Given the description of an element on the screen output the (x, y) to click on. 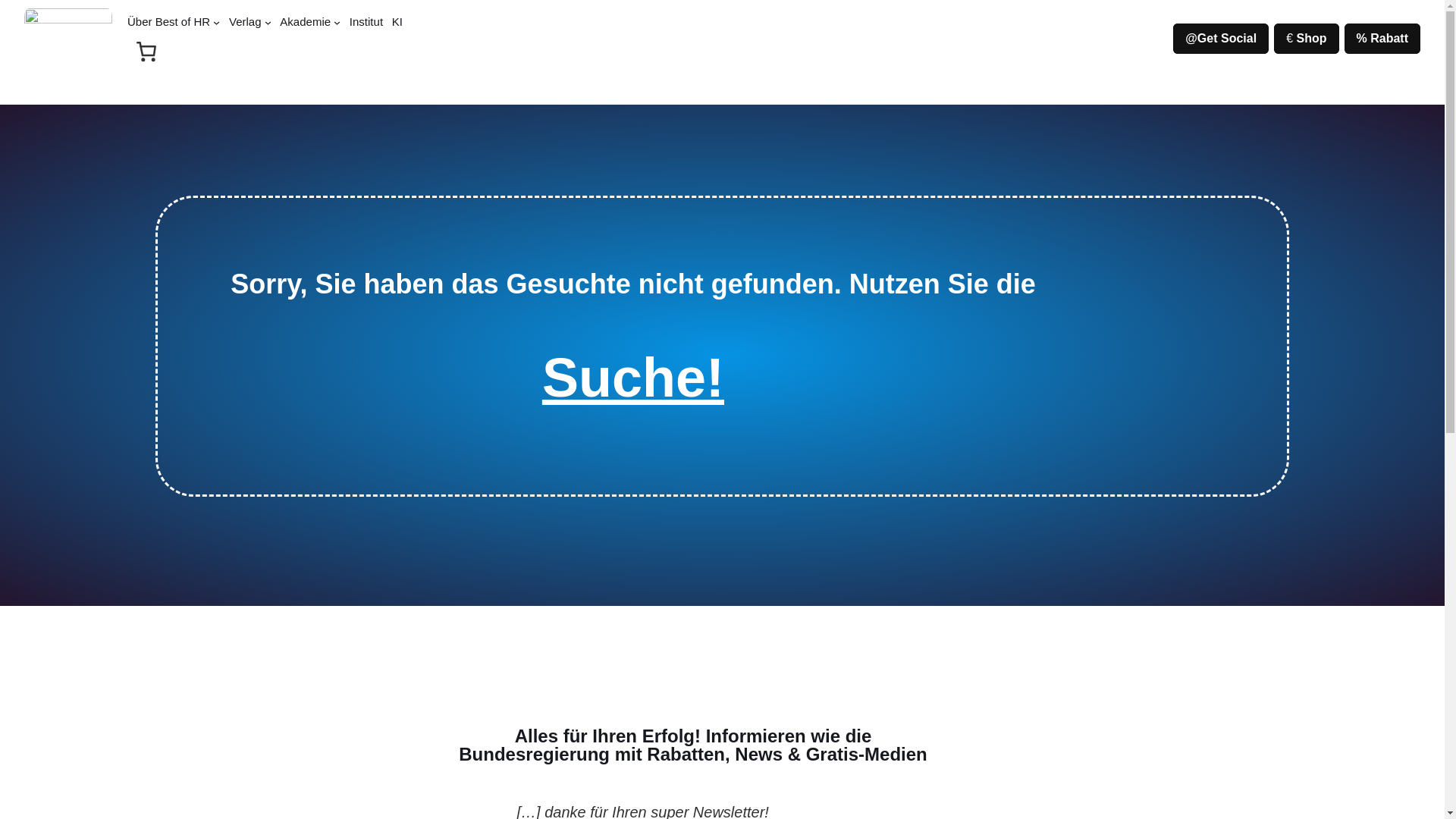
Akademie (304, 21)
Verlag (245, 21)
Suche! (632, 377)
Institut (365, 21)
